Given the description of an element on the screen output the (x, y) to click on. 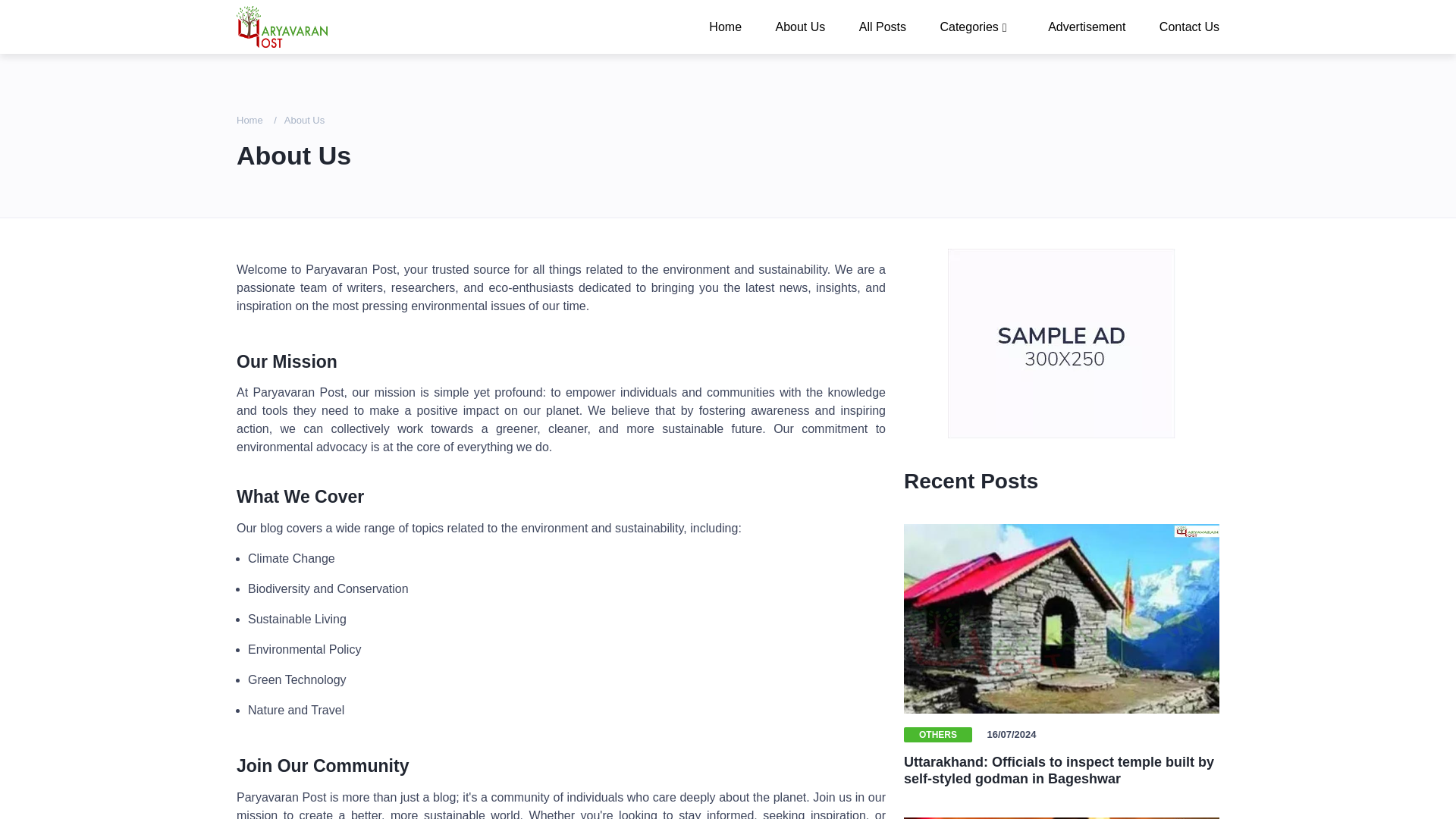
Home (725, 25)
OTHERS (938, 734)
Categories (976, 25)
Advertisement (1086, 25)
About Us (800, 25)
Home (249, 120)
All Posts (882, 25)
Contact Us (1182, 25)
